Given the description of an element on the screen output the (x, y) to click on. 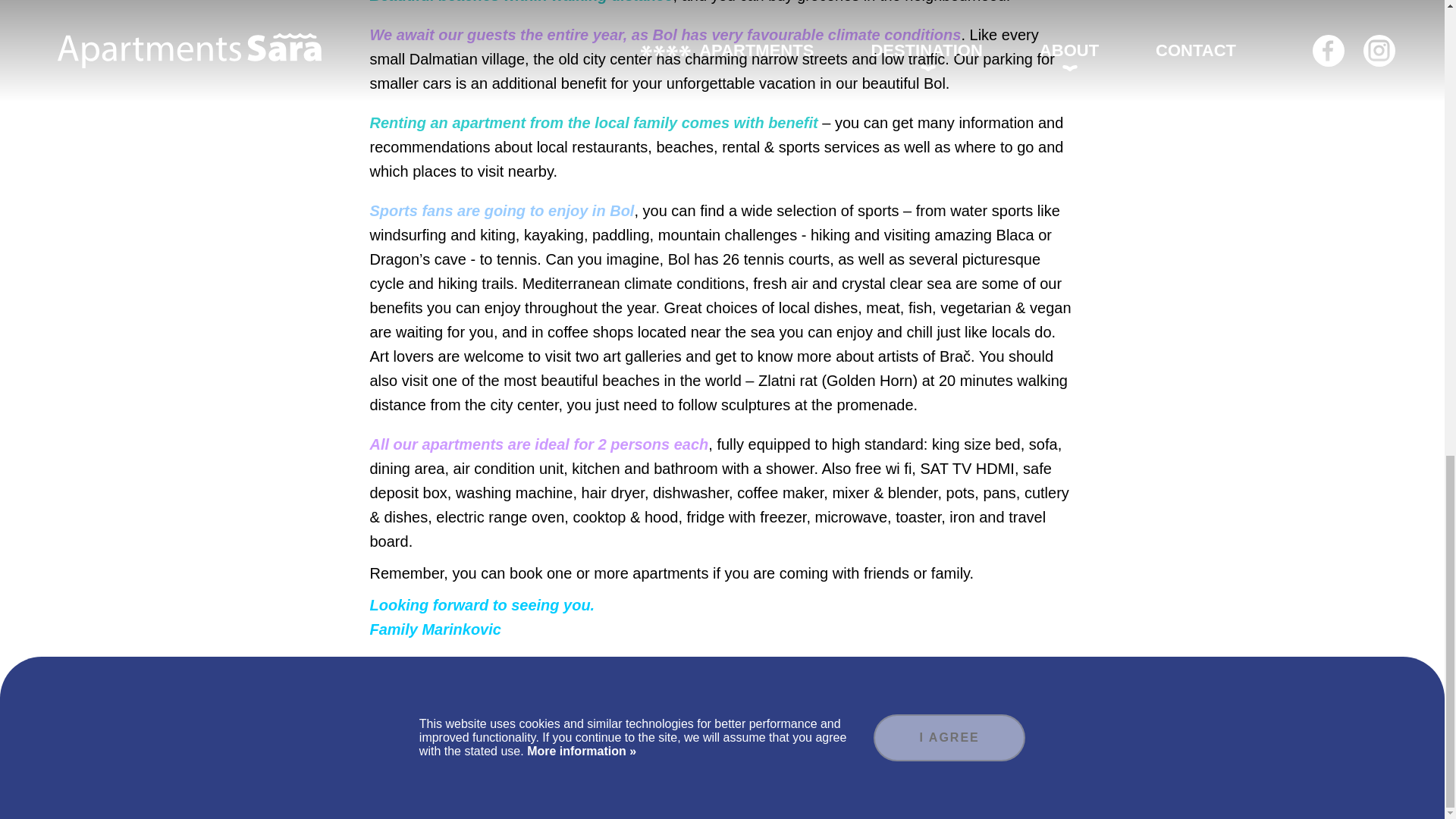
Terms of use (681, 789)
Privacy policy (762, 789)
